Given the description of an element on the screen output the (x, y) to click on. 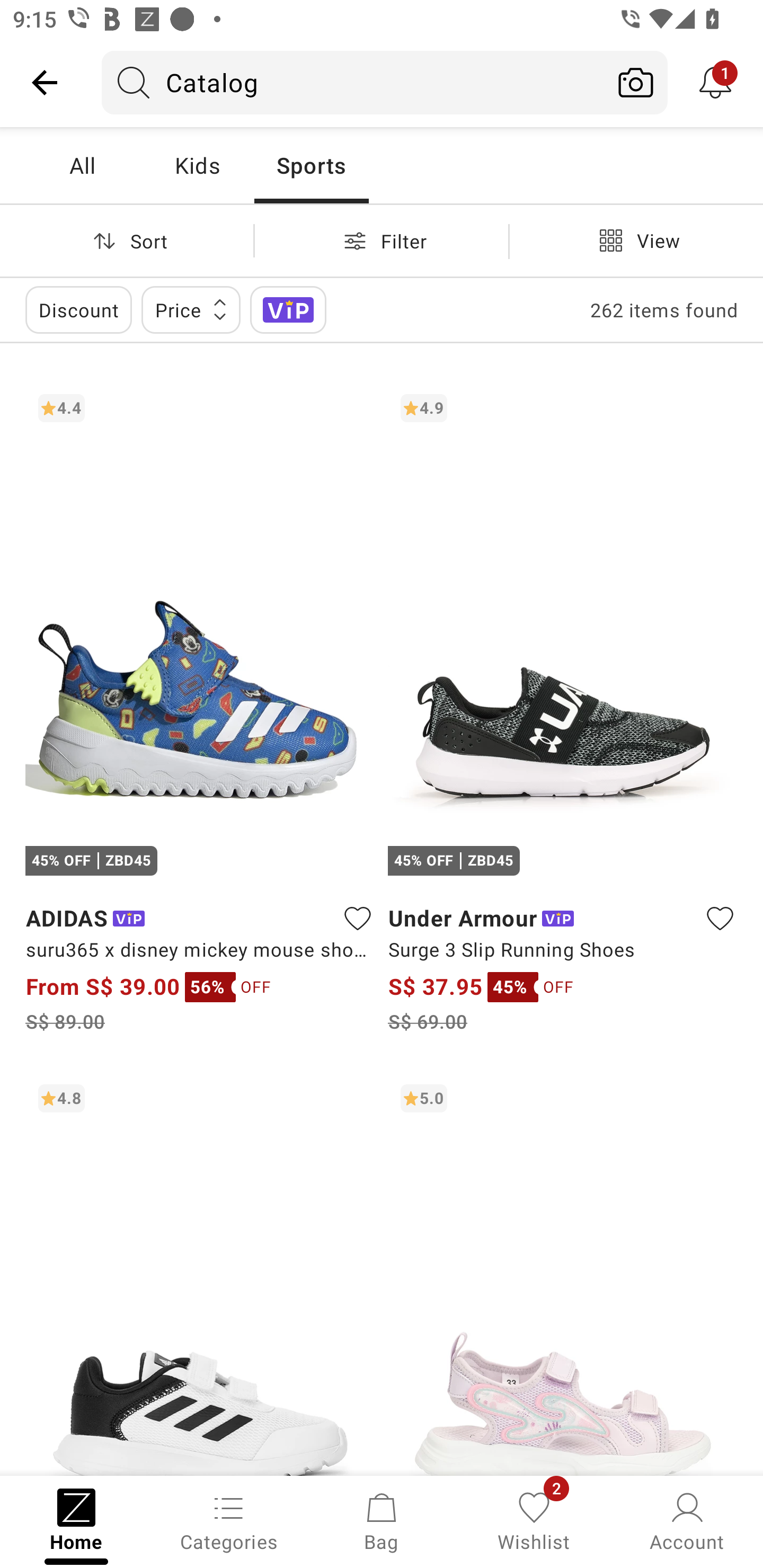
Navigate up (44, 82)
Catalog (352, 82)
All (82, 165)
Kids (196, 165)
Sort (126, 240)
Filter (381, 240)
View (636, 240)
Discount (78, 309)
Price (190, 309)
4.8 (200, 1272)
5.0 (562, 1272)
Categories (228, 1519)
Bag (381, 1519)
Wishlist, 2 new notifications Wishlist (533, 1519)
Account (686, 1519)
